Given the description of an element on the screen output the (x, y) to click on. 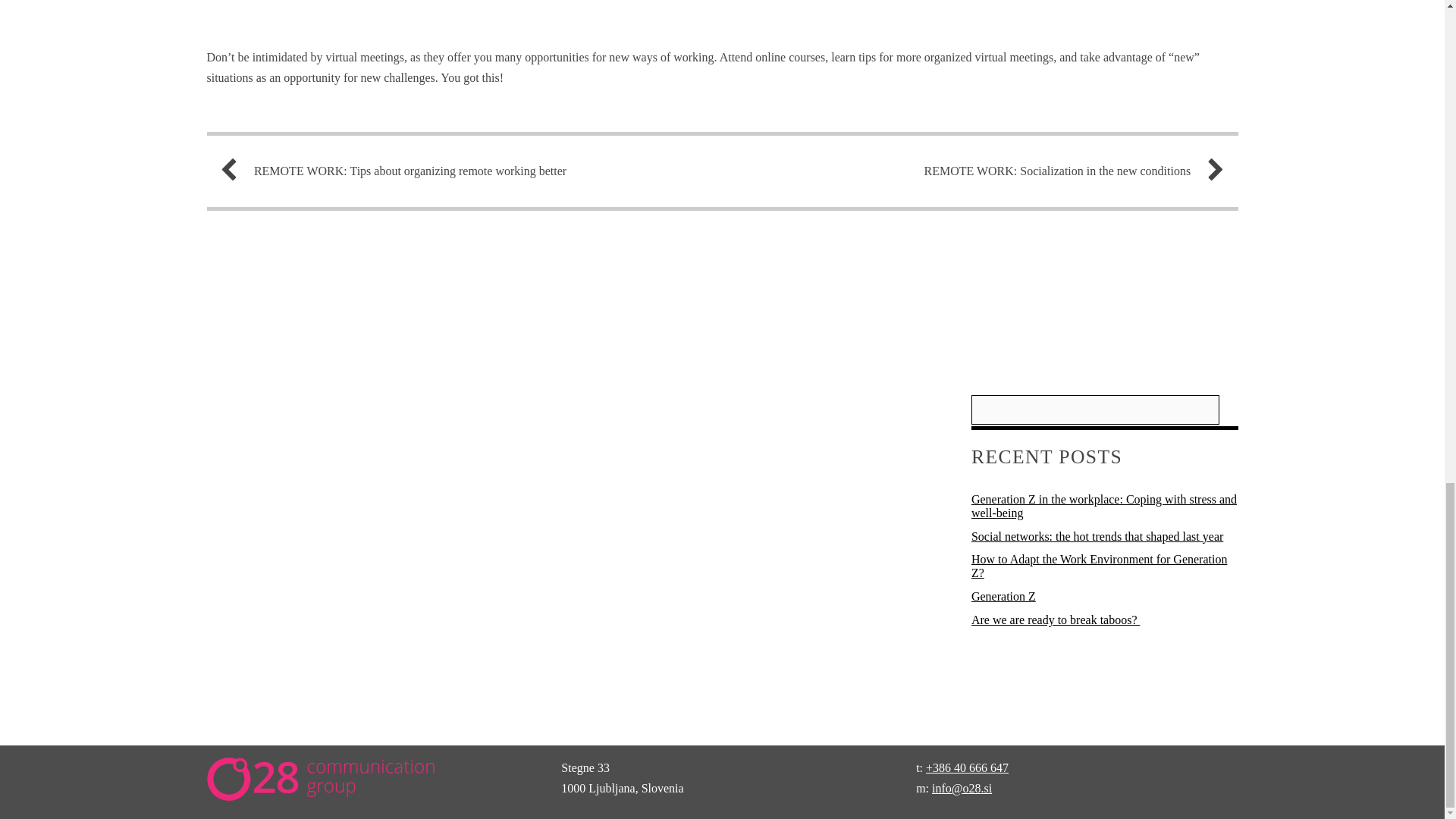
Search (1095, 409)
REMOTE WORK: Tips about organizing remote working better (461, 170)
Social networks: the hot trends that shaped last year (1097, 535)
How to Adapt the Work Environment for Generation Z? (1099, 565)
REMOTE WORK: Socialization in the new conditions (981, 170)
Generation Z (1003, 595)
Are we are ready to break taboos?  (1055, 619)
